Given the description of an element on the screen output the (x, y) to click on. 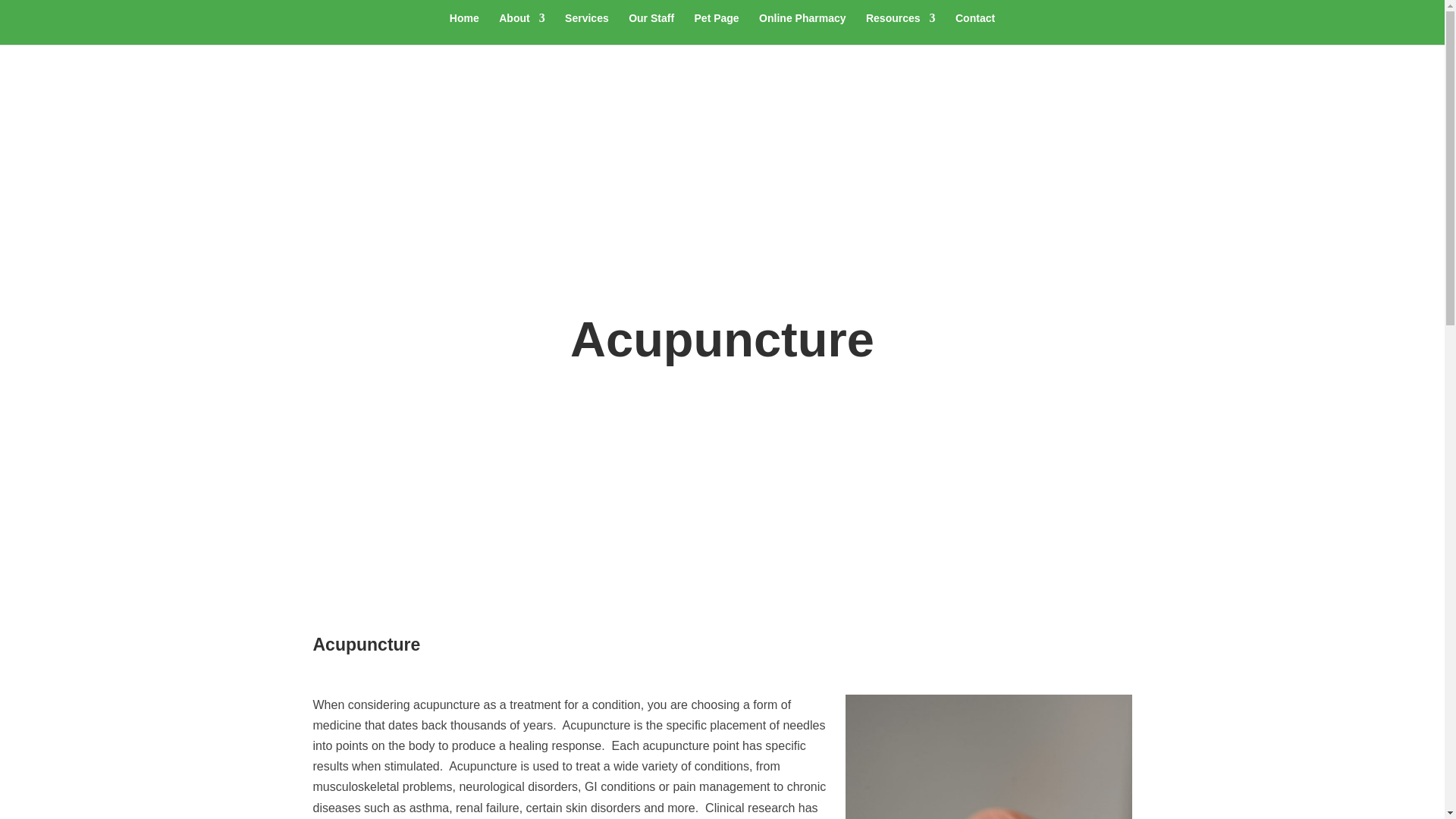
Home (464, 29)
Online Pharmacy (801, 29)
Pet Page (716, 29)
Our Staff (651, 29)
Contact (974, 29)
About (521, 29)
Resources (901, 29)
Services (586, 29)
